Given the description of an element on the screen output the (x, y) to click on. 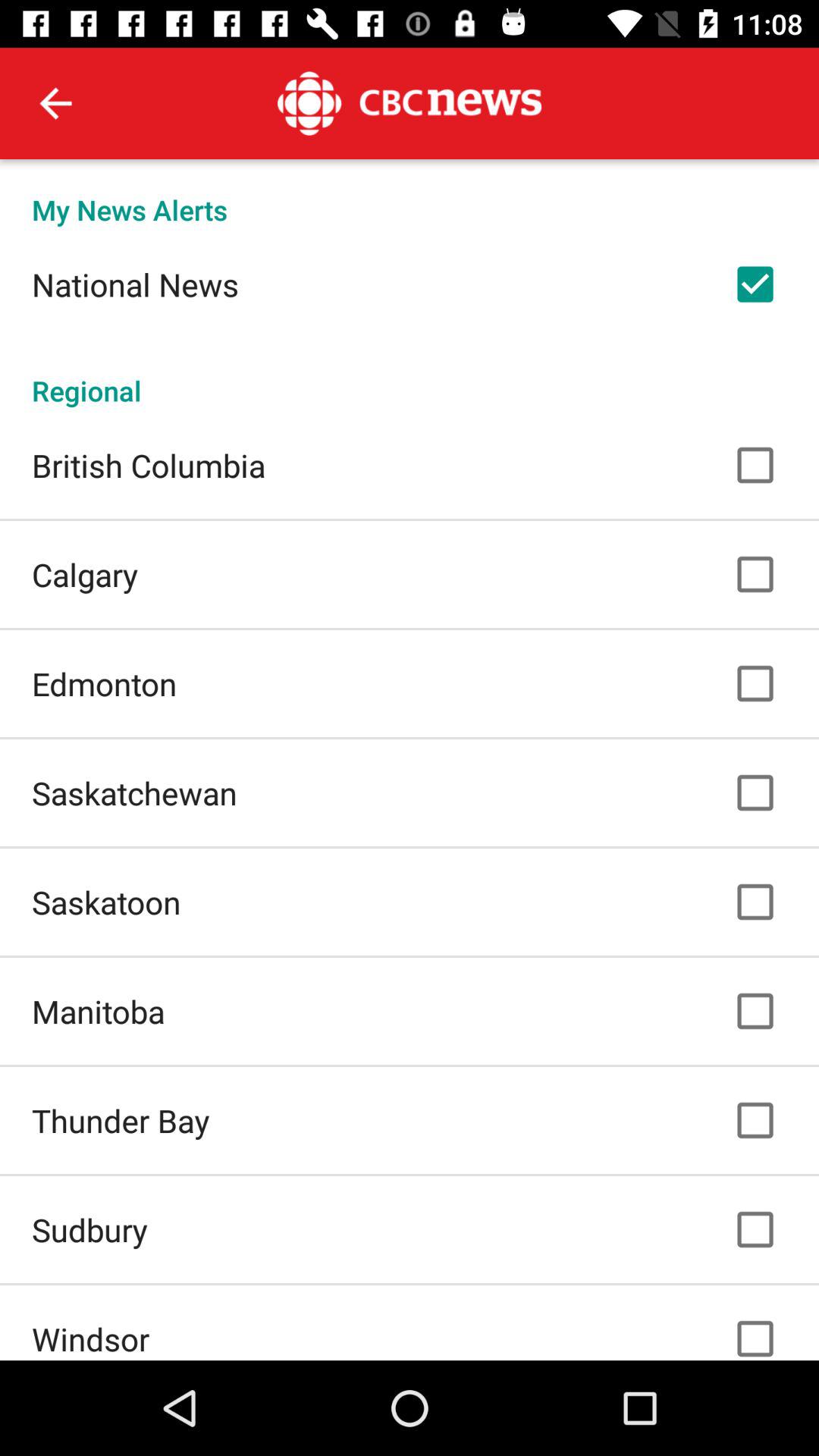
open the windsor icon (90, 1338)
